Given the description of an element on the screen output the (x, y) to click on. 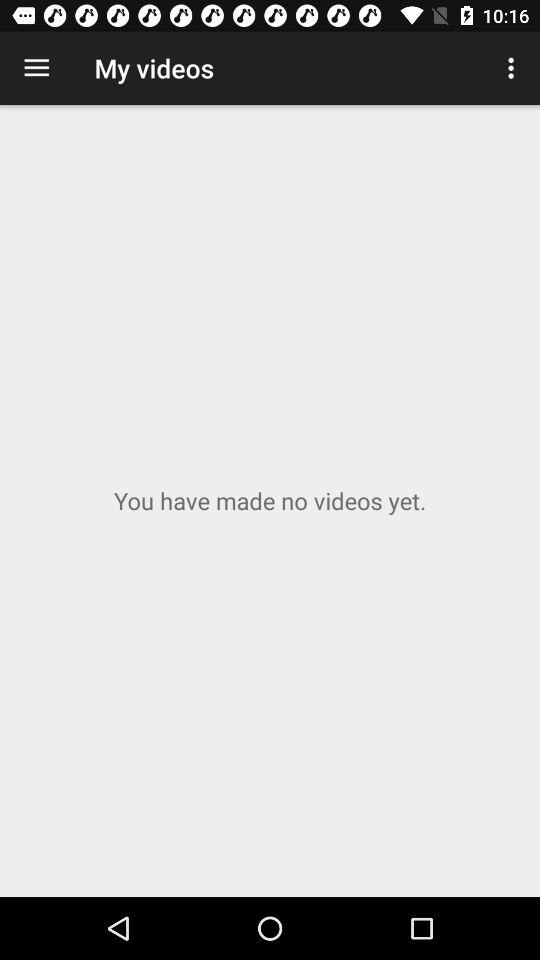
launch the item above you have made icon (513, 67)
